Given the description of an element on the screen output the (x, y) to click on. 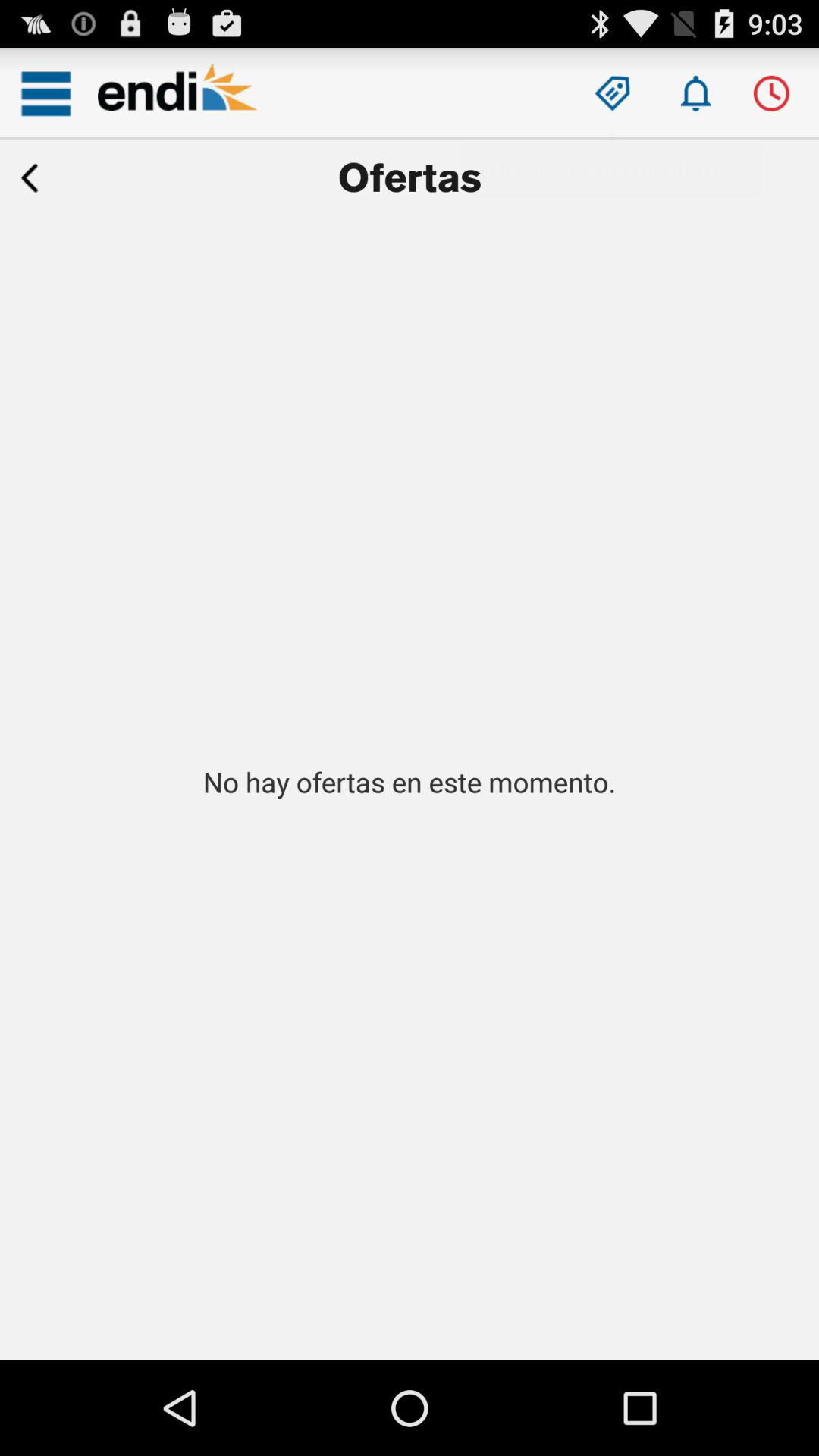
open menu (45, 93)
